Given the description of an element on the screen output the (x, y) to click on. 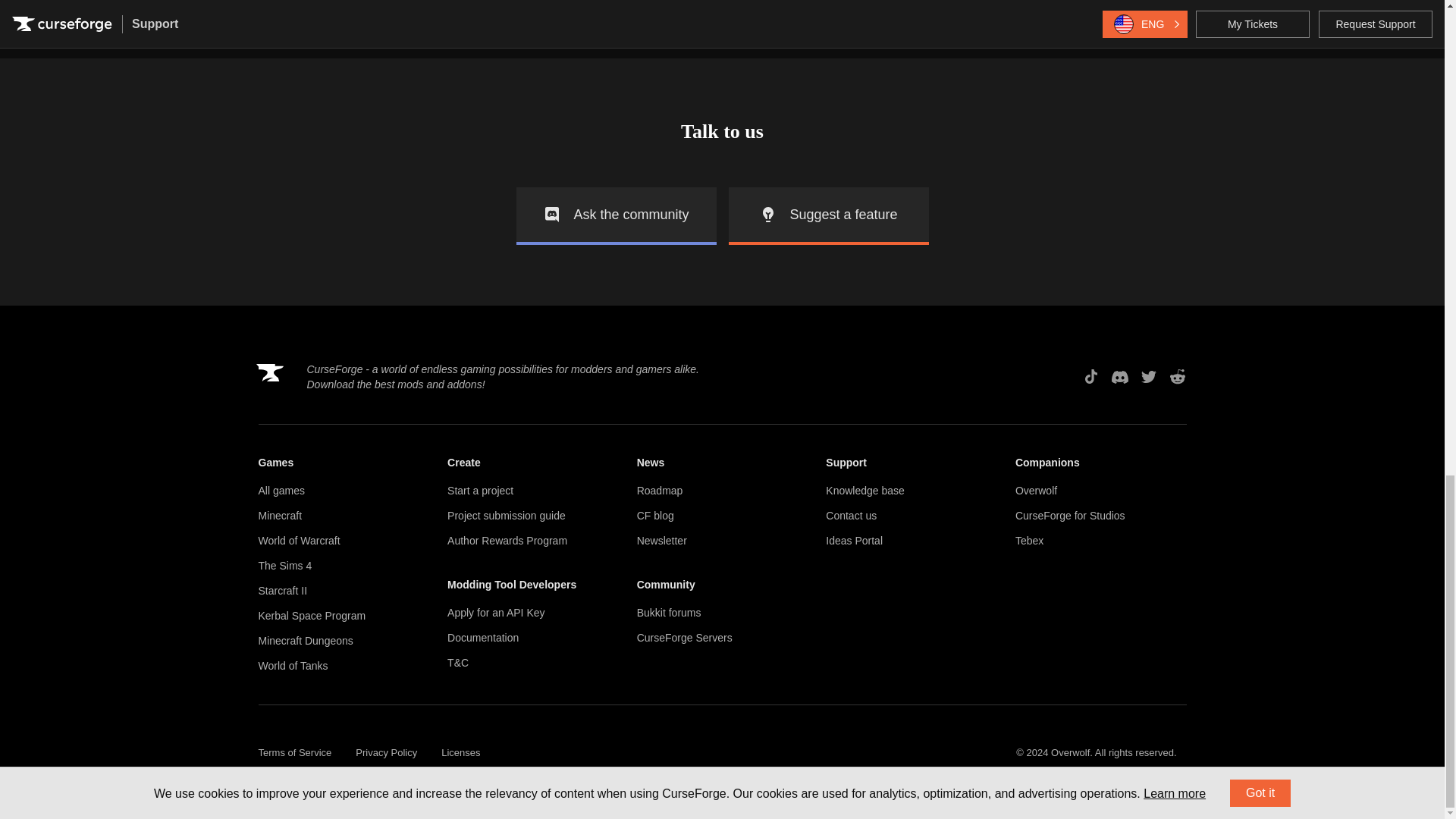
TikTok (1090, 376)
Starcraft II (343, 590)
Project submission guide (532, 515)
Minecraft Dungeons (343, 641)
The Sims 4 (343, 565)
World of Warcraft (343, 540)
Kerbal Space Program (343, 616)
Reddit (1176, 376)
Author Rewards Program (532, 540)
Discord (1118, 376)
Start a project (532, 490)
All games (343, 490)
Apply for an API Key (532, 612)
Twitter (1147, 376)
World of Tanks (343, 666)
